Given the description of an element on the screen output the (x, y) to click on. 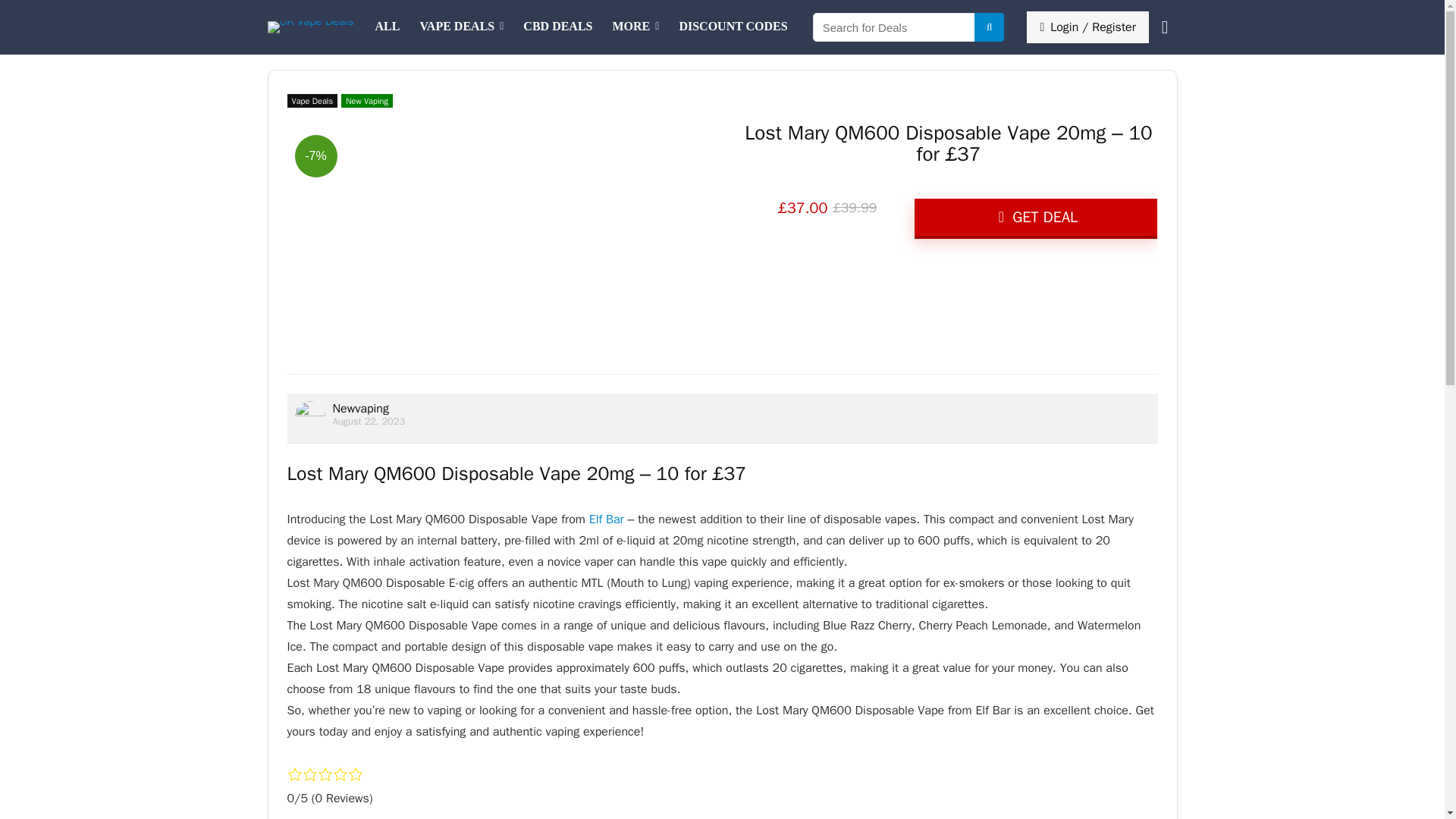
CBD DEALS (557, 27)
Newvaping (359, 408)
VAPE DEALS (461, 27)
ALL (387, 27)
CBD Deals UK (557, 27)
Vape Deals (311, 100)
View all posts in New Vaping (366, 100)
UK Vape Deals  (387, 27)
Vape Deals (461, 27)
View all posts in Vape Deals (311, 100)
GET DEAL (1035, 219)
New Vaping (366, 100)
DISCOUNT CODES (732, 27)
MORE (635, 27)
Elf Bar (606, 519)
